Given the description of an element on the screen output the (x, y) to click on. 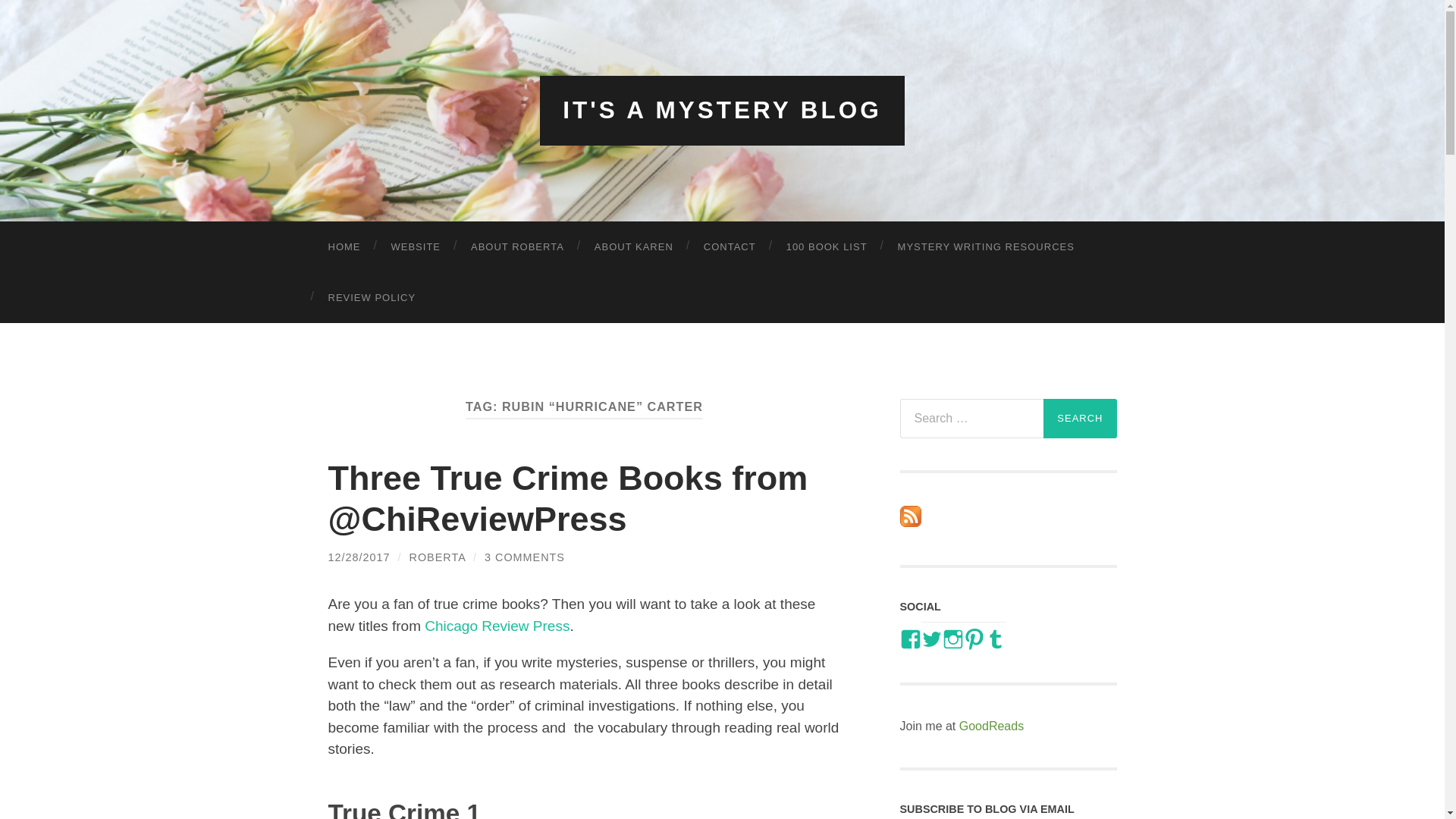
Posts by Roberta (437, 557)
Subscribe to posts (909, 522)
Search (1079, 418)
REVIEW POLICY (371, 296)
Search (1079, 418)
Pinterest (973, 639)
Instagram (952, 639)
ABOUT ROBERTA (517, 246)
Tumblr (995, 639)
ABOUT KAREN (633, 246)
